Given the description of an element on the screen output the (x, y) to click on. 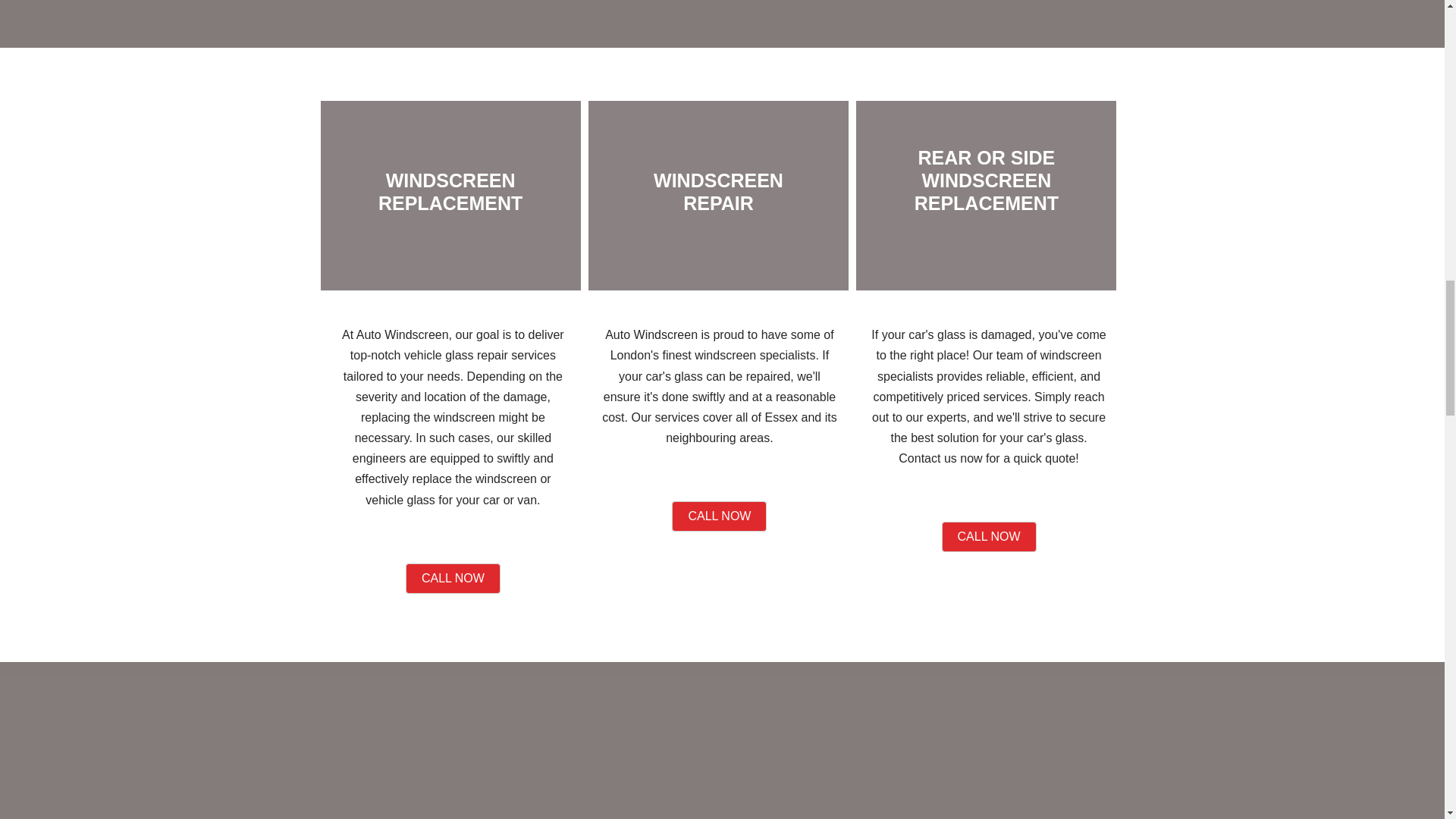
CALL NOW (453, 578)
CALL NOW (719, 516)
CALL NOW (989, 536)
